Given the description of an element on the screen output the (x, y) to click on. 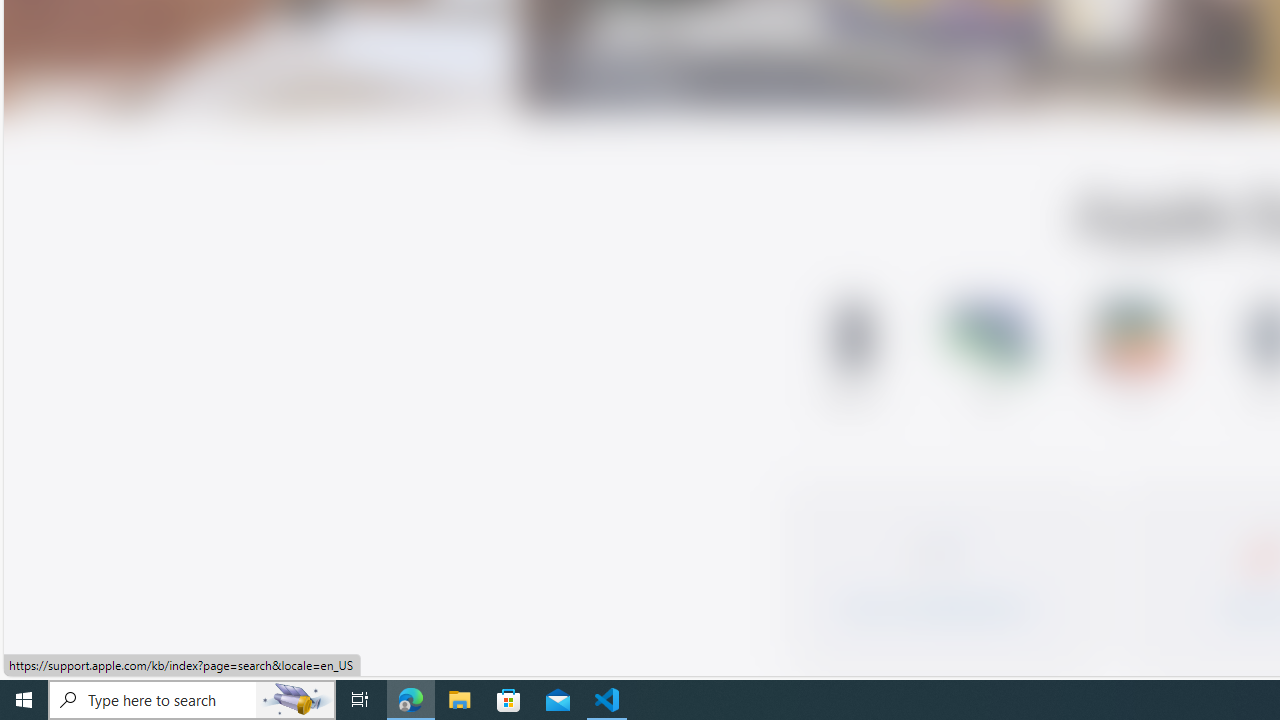
iPad Support (1131, 358)
iPhone Support (852, 358)
Mac Support (992, 358)
Forgot Apple ID password (938, 570)
